Given the description of an element on the screen output the (x, y) to click on. 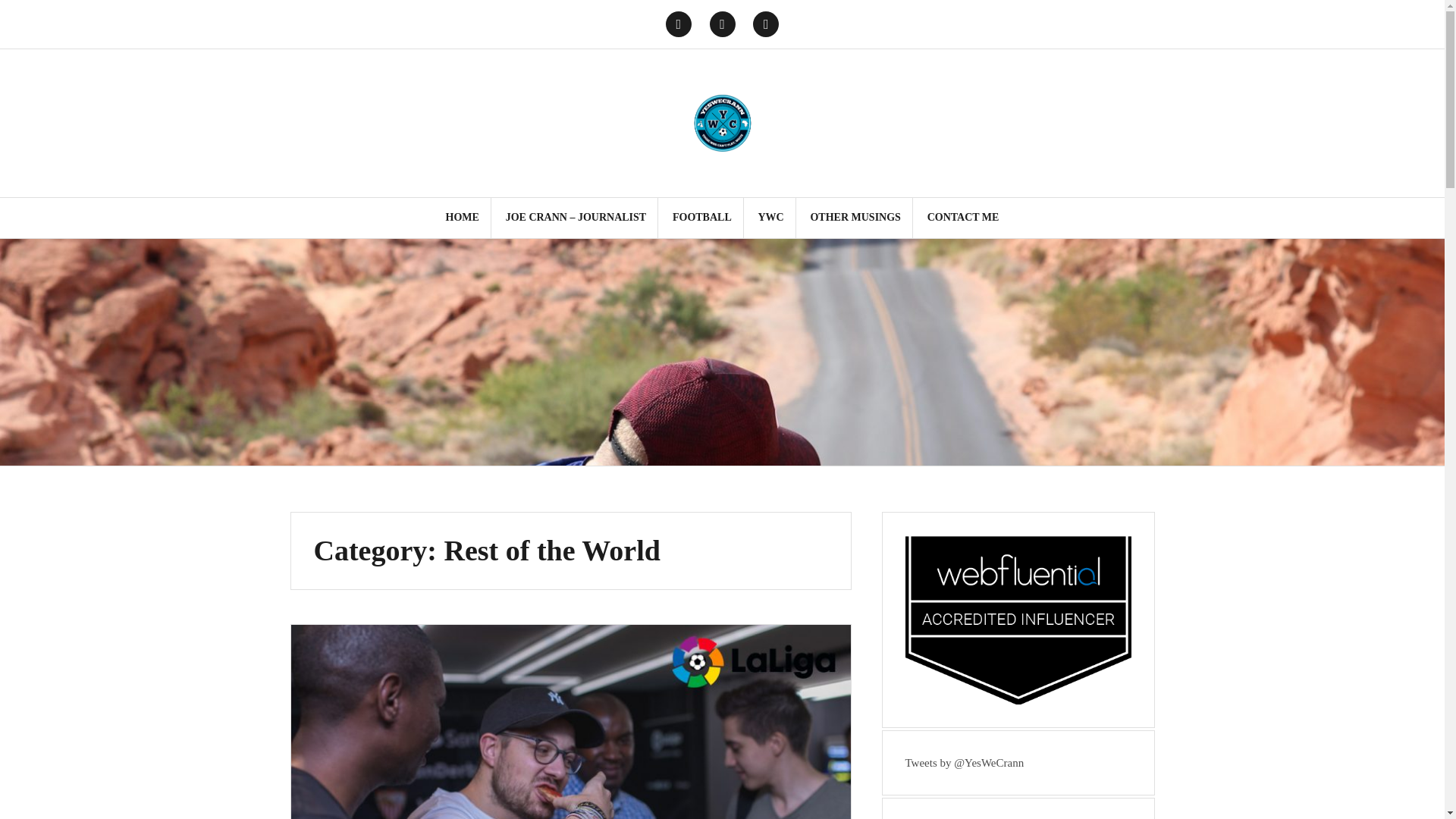
Instagram (721, 23)
HOME (462, 217)
Facebook (765, 23)
FOOTBALL (702, 217)
YWC (770, 217)
CONTACT ME (962, 217)
OTHER MUSINGS (854, 217)
Twitter (678, 23)
YesWeCrann (721, 121)
